Given the description of an element on the screen output the (x, y) to click on. 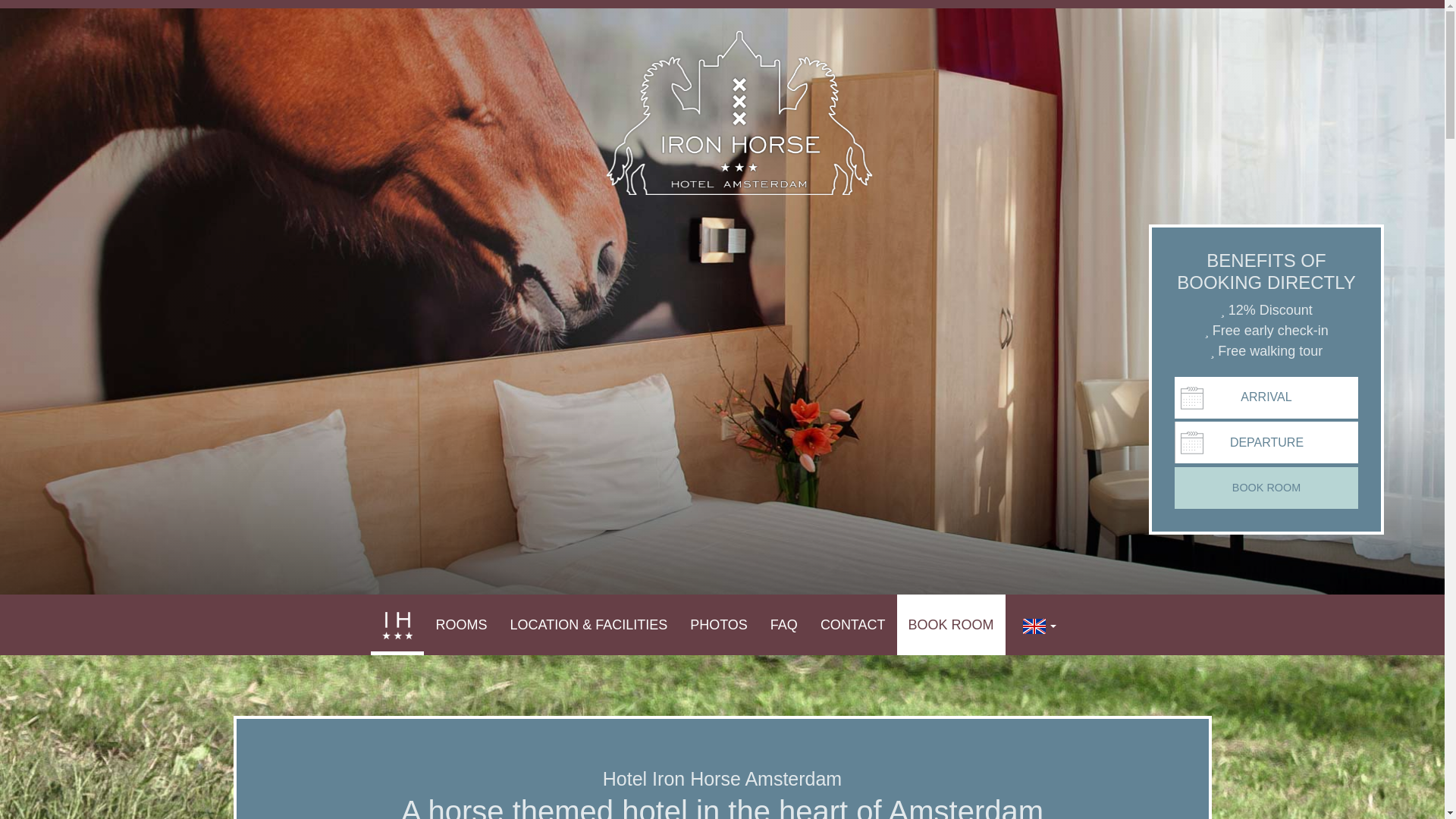
PHOTOS (718, 624)
BOOK ROOM (1266, 487)
CONTACT (852, 624)
English (1034, 626)
BOOK ROOM (951, 624)
ROOMS (460, 624)
